Given the description of an element on the screen output the (x, y) to click on. 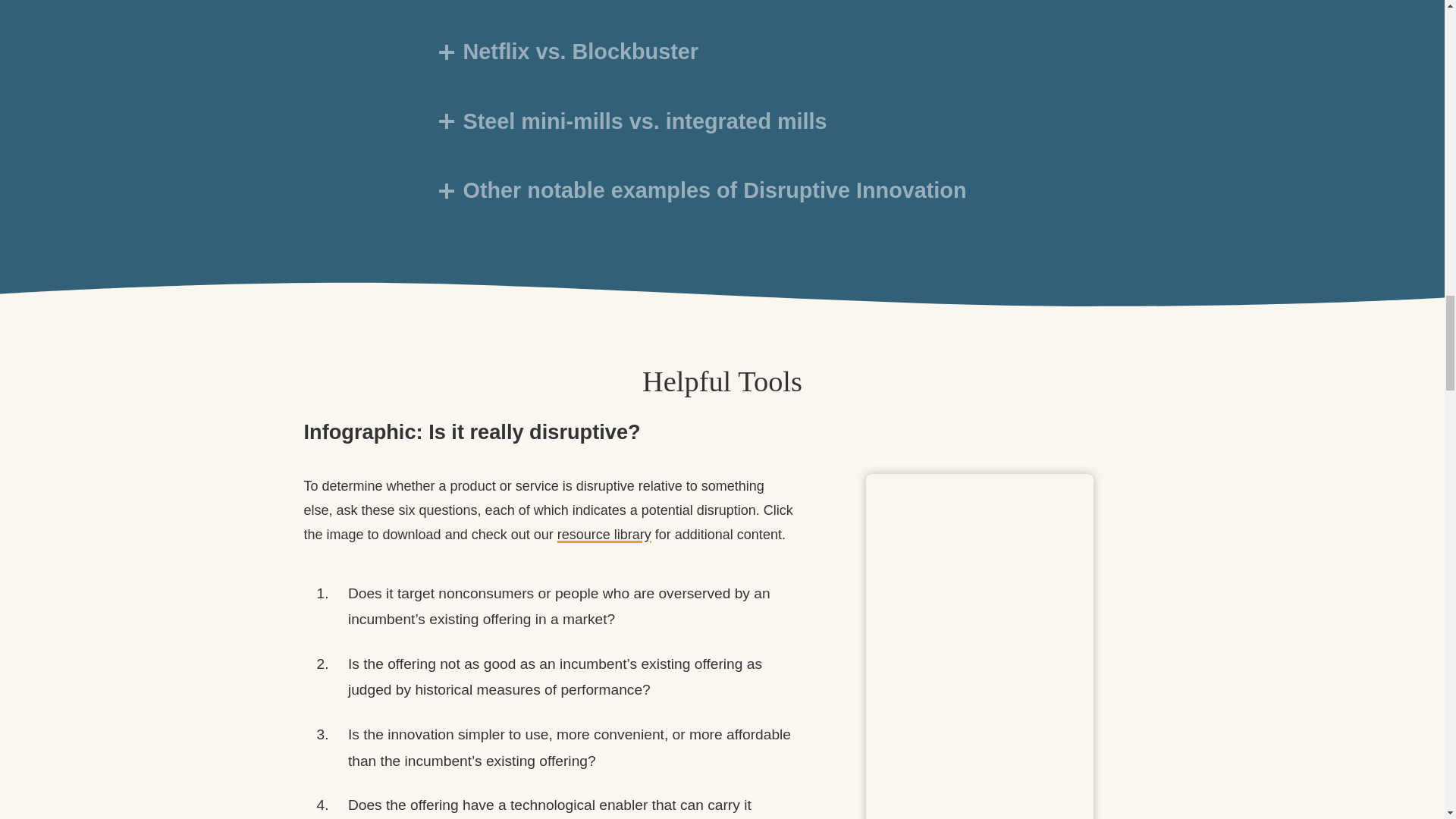
Netflix vs. Blockbuster (721, 56)
Other notable examples of Disruptive Innovation (721, 194)
Steel mini-mills vs. integrated mills (721, 125)
resource library (603, 534)
